Given the description of an element on the screen output the (x, y) to click on. 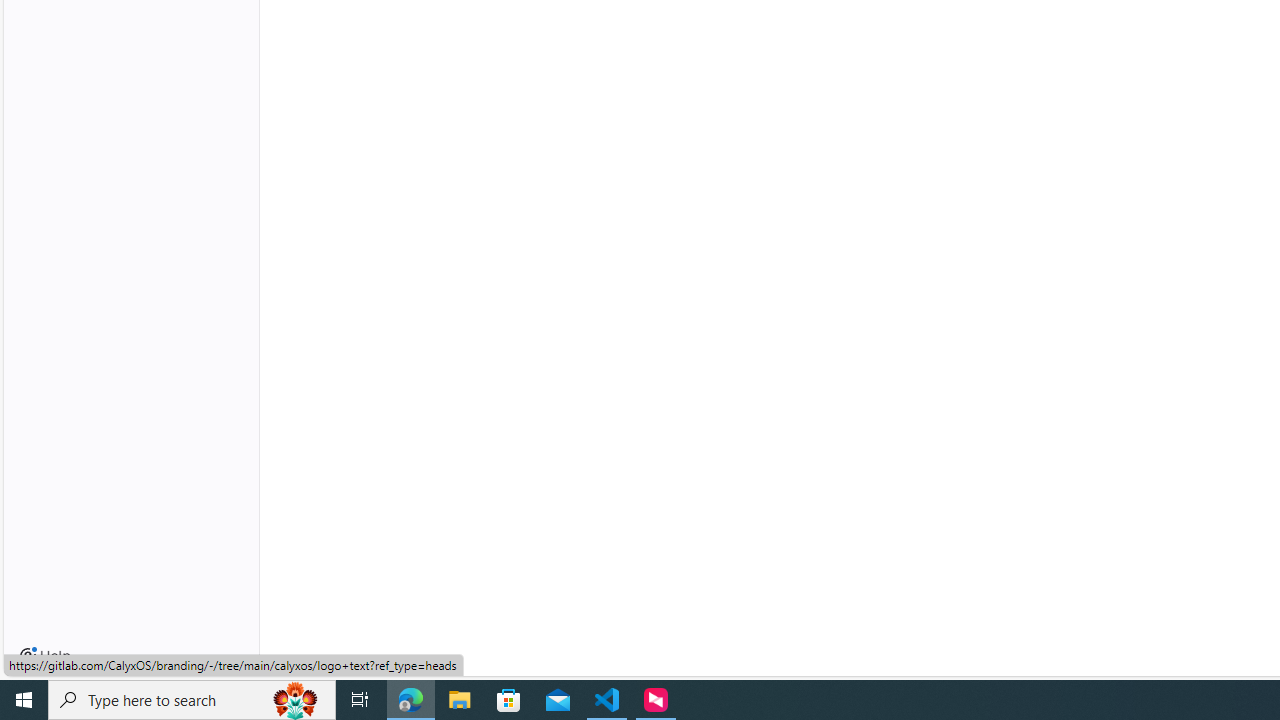
Help (45, 655)
